Given the description of an element on the screen output the (x, y) to click on. 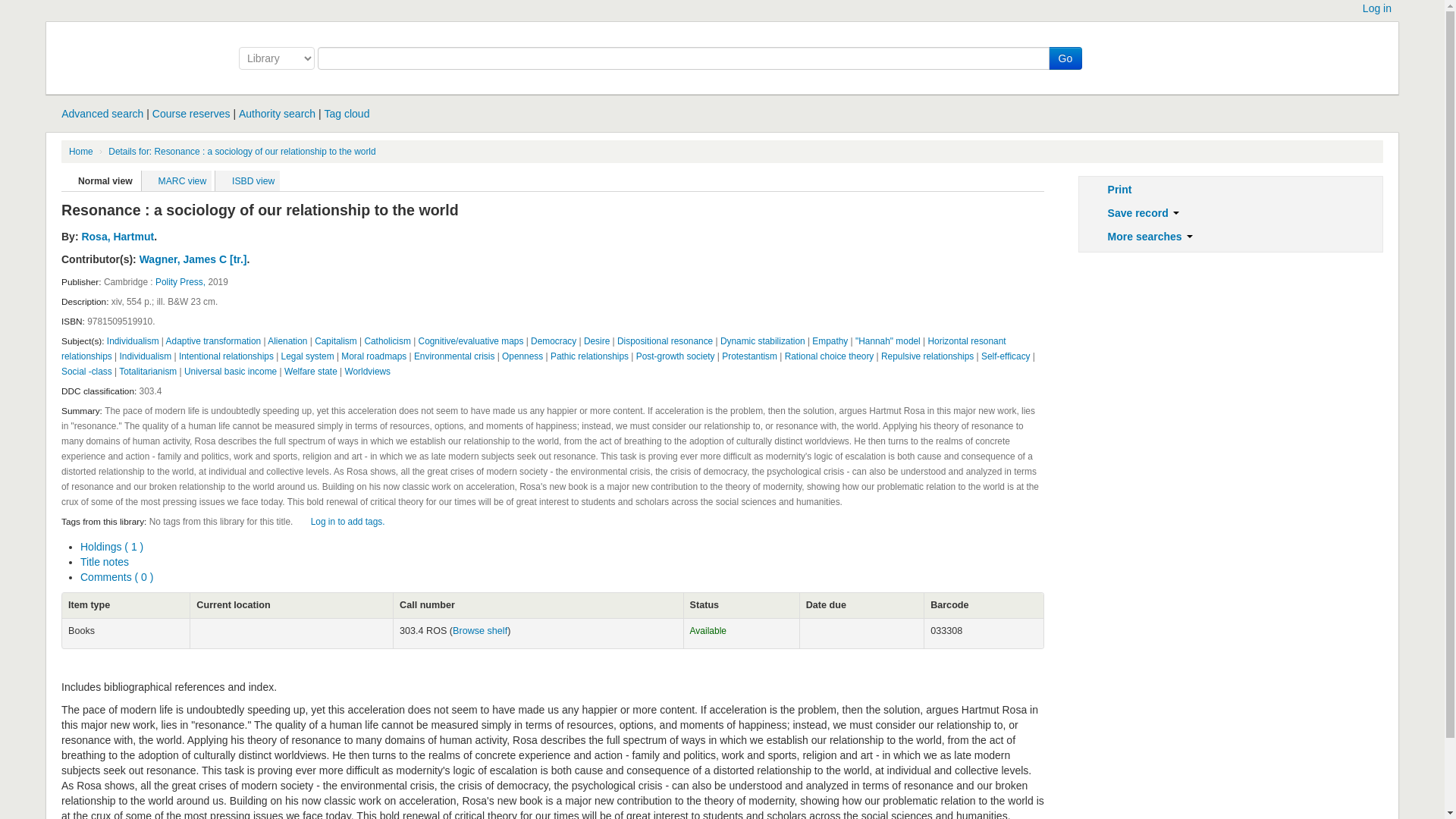
Intentional relationships (226, 356)
Alienation (287, 340)
Authority search (276, 113)
Empathy (829, 340)
Koha online (137, 52)
ISBD view (248, 181)
Openness (522, 356)
Dispositional resonance (665, 340)
Horizontal resonant relationships (533, 348)
Advanced search (101, 113)
